Given the description of an element on the screen output the (x, y) to click on. 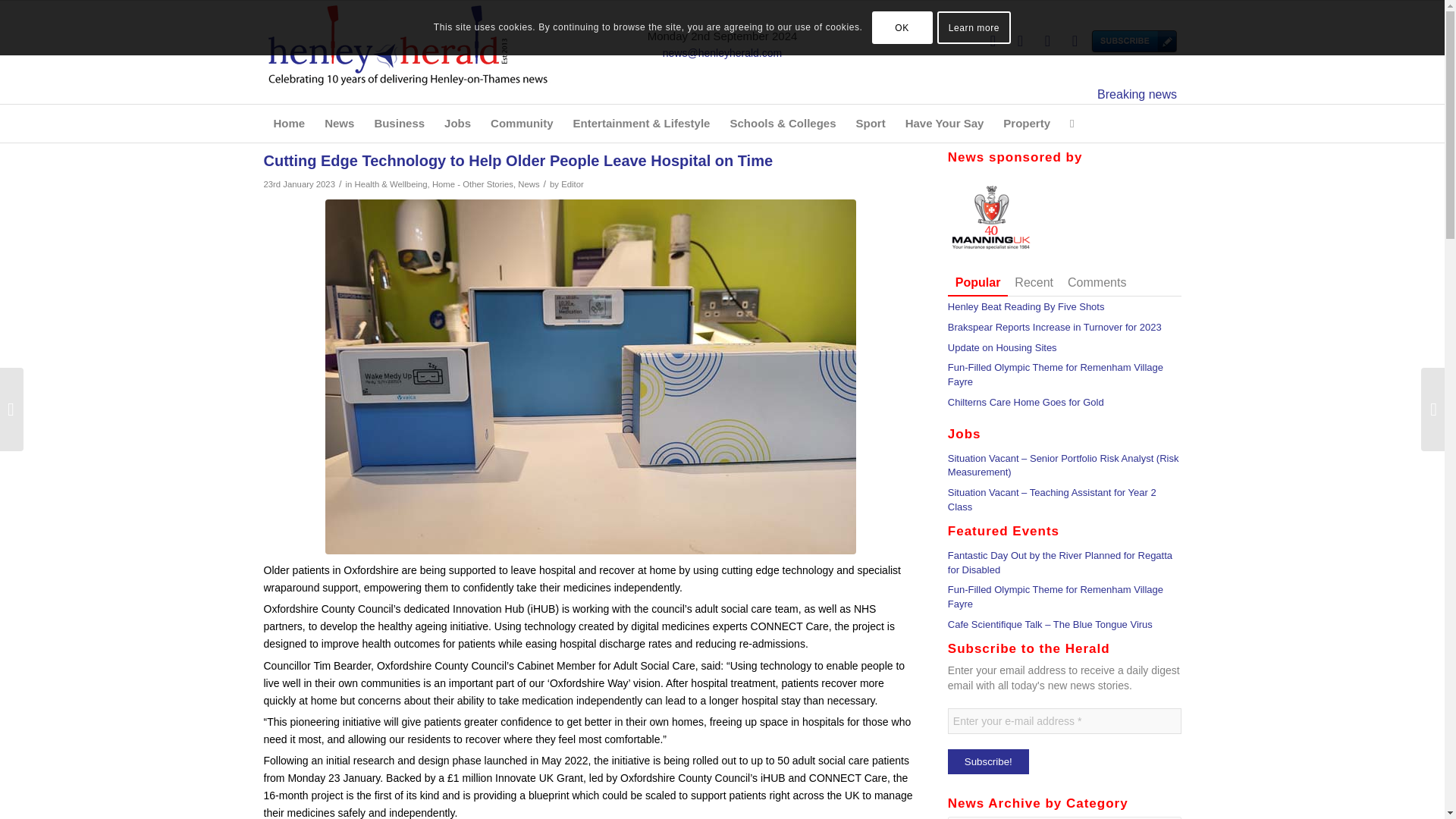
Henley Herald logo (407, 52)
Business (398, 123)
Henley Herald logo (407, 44)
News (339, 123)
X (992, 40)
Subscribe! (988, 761)
Youtube (1074, 40)
Posts by Editor (571, 184)
Community (521, 123)
